Given the description of an element on the screen output the (x, y) to click on. 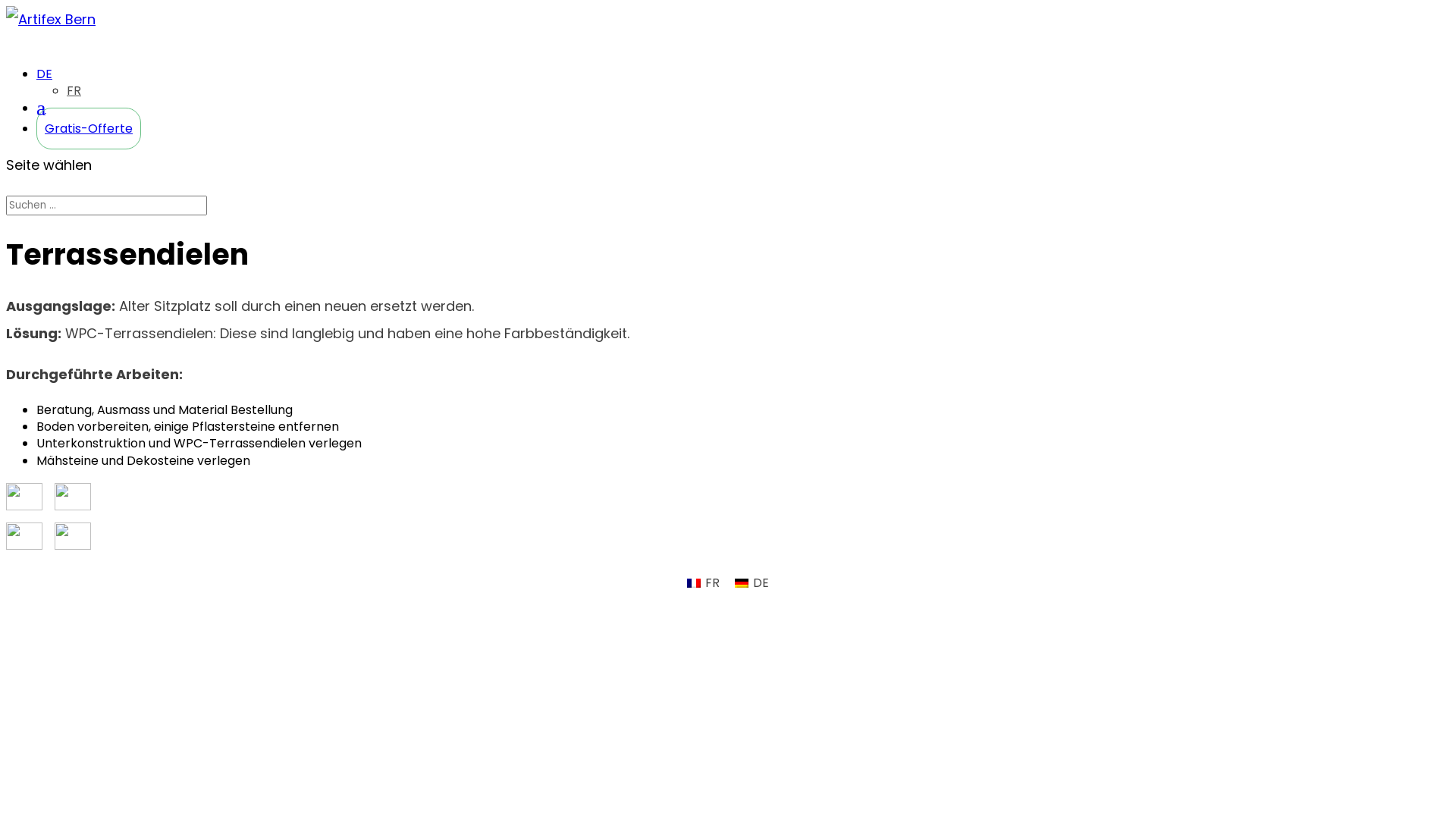
Suchen nach: Element type: hover (106, 205)
DE Element type: text (44, 79)
FR Element type: text (73, 90)
FR Element type: text (703, 582)
Gratis-Offerte Element type: text (88, 128)
# Element type: text (40, 117)
DE Element type: text (751, 582)
